Given the description of an element on the screen output the (x, y) to click on. 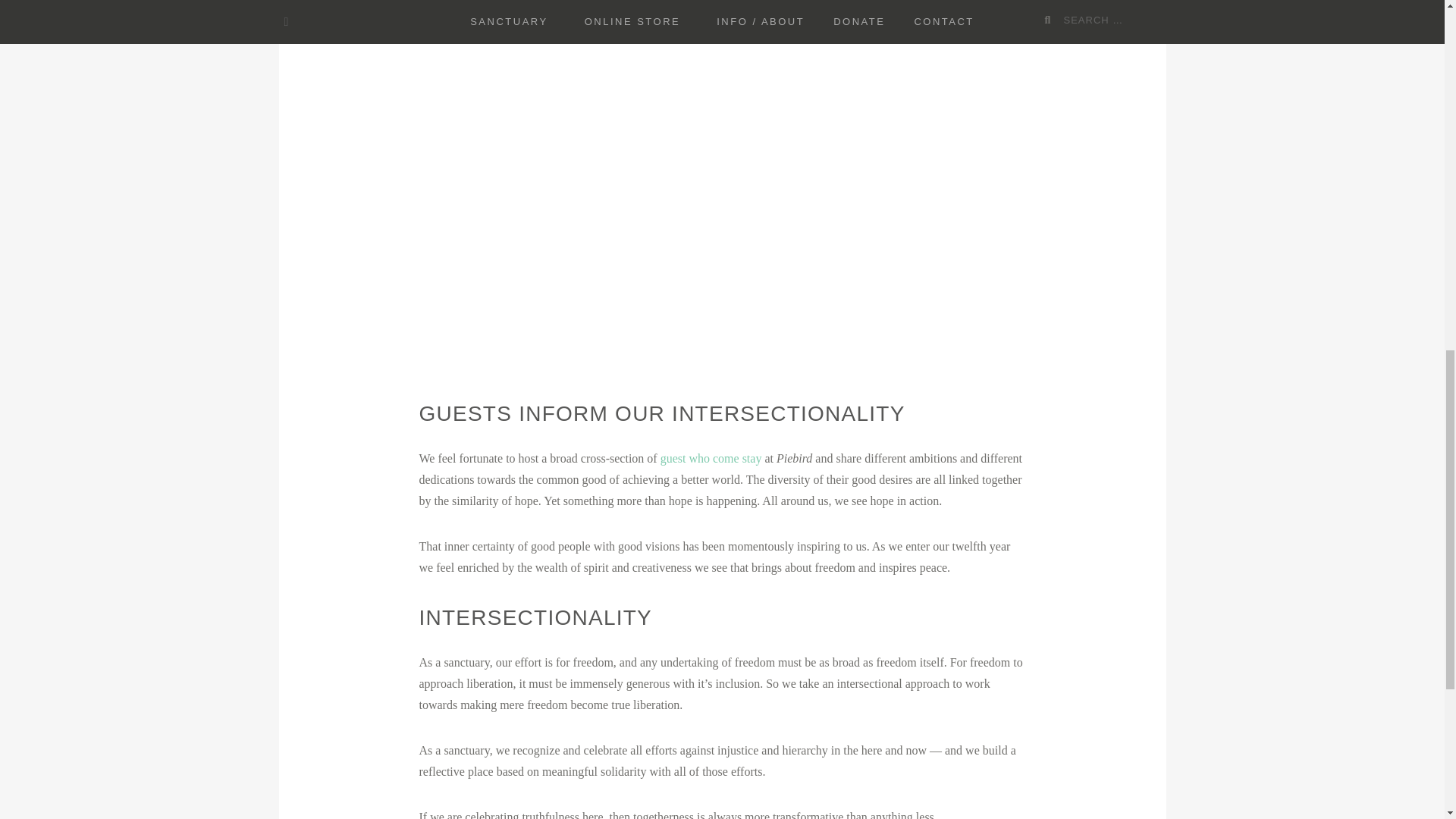
guest who come stay (711, 458)
